Given the description of an element on the screen output the (x, y) to click on. 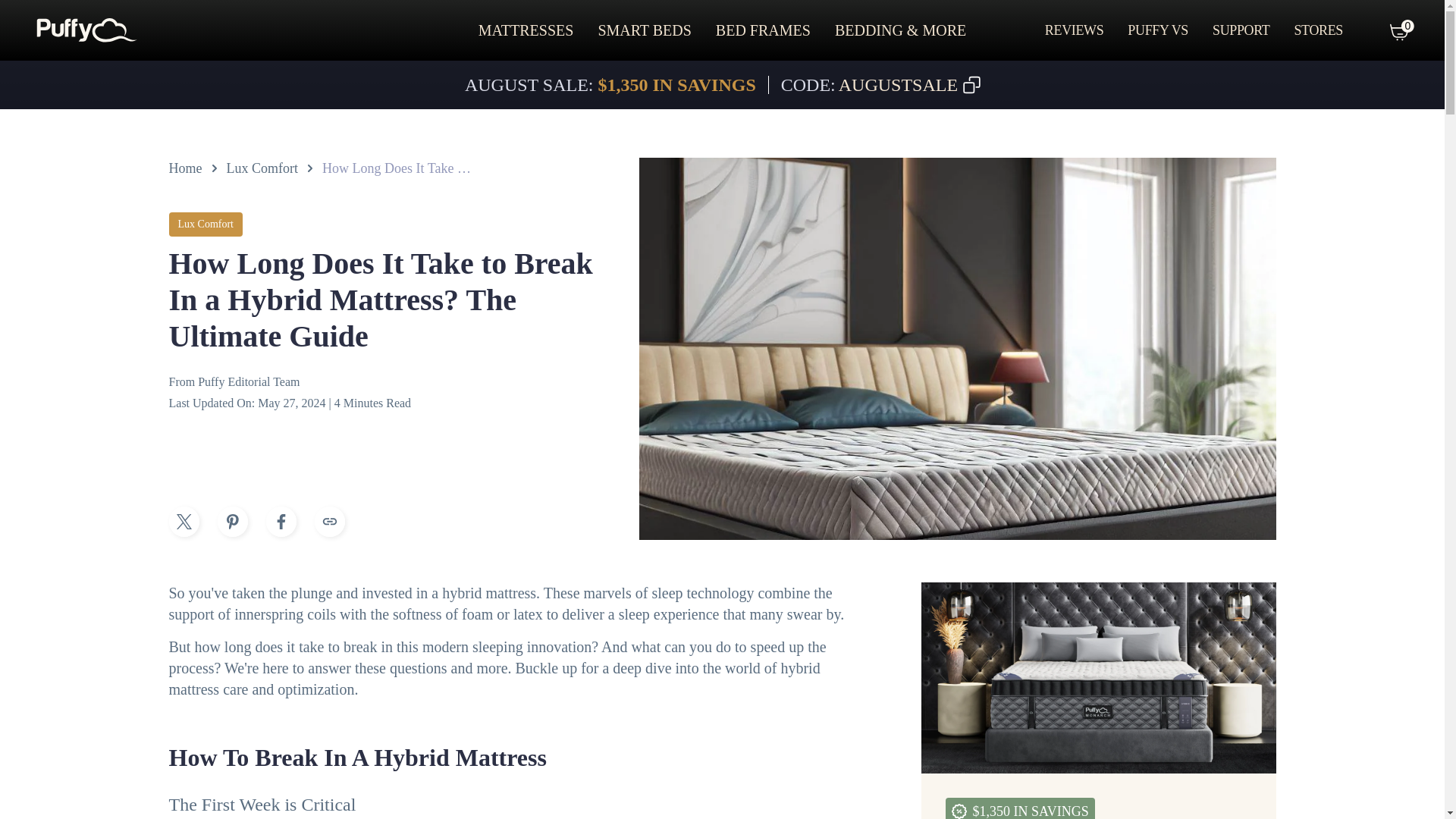
0 (1384, 30)
BED FRAMES (763, 29)
MATTRESSES (526, 29)
SMART BEDS (643, 29)
